Given the description of an element on the screen output the (x, y) to click on. 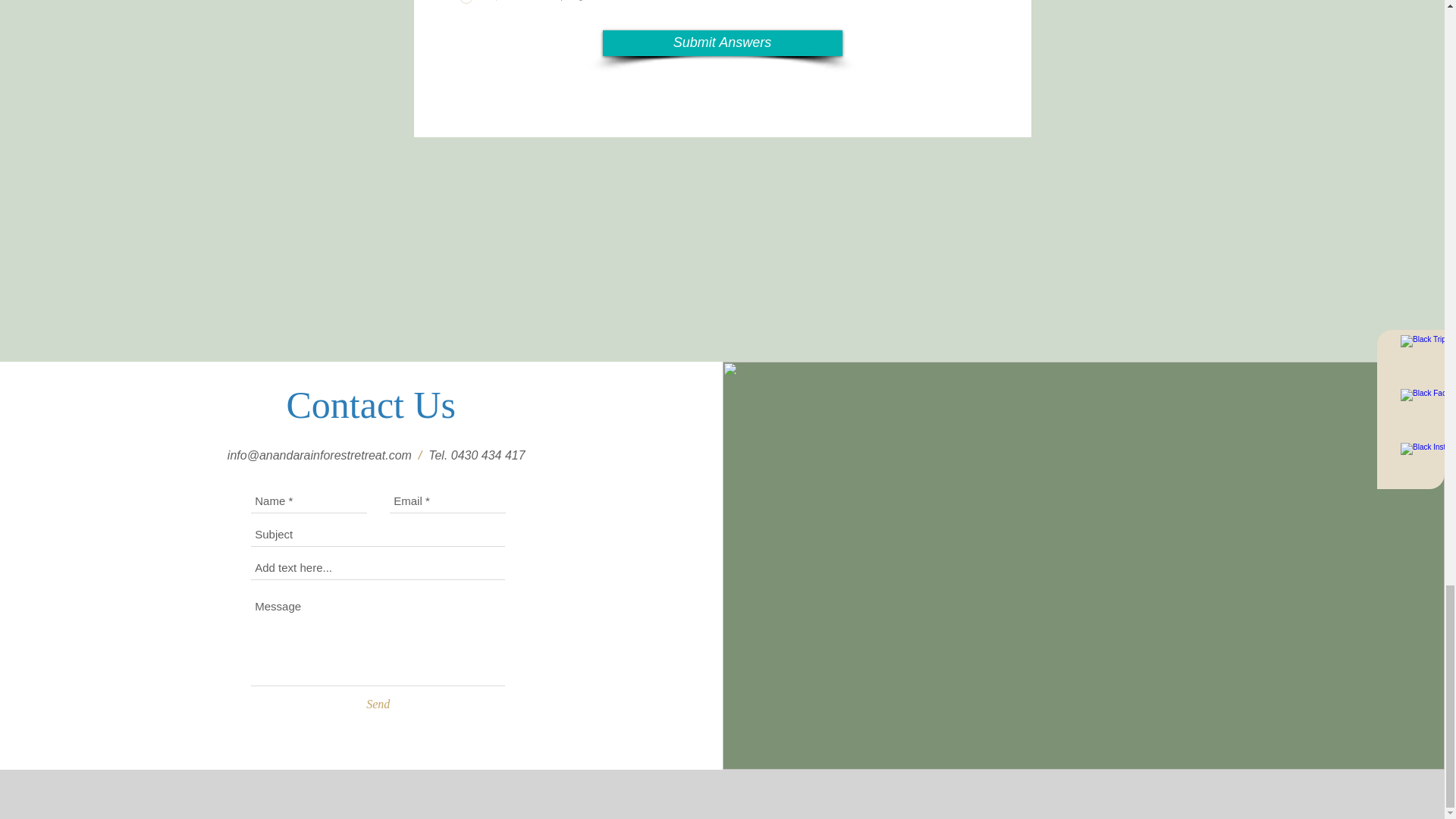
Send (377, 704)
Submit Answers (721, 42)
